Given the description of an element on the screen output the (x, y) to click on. 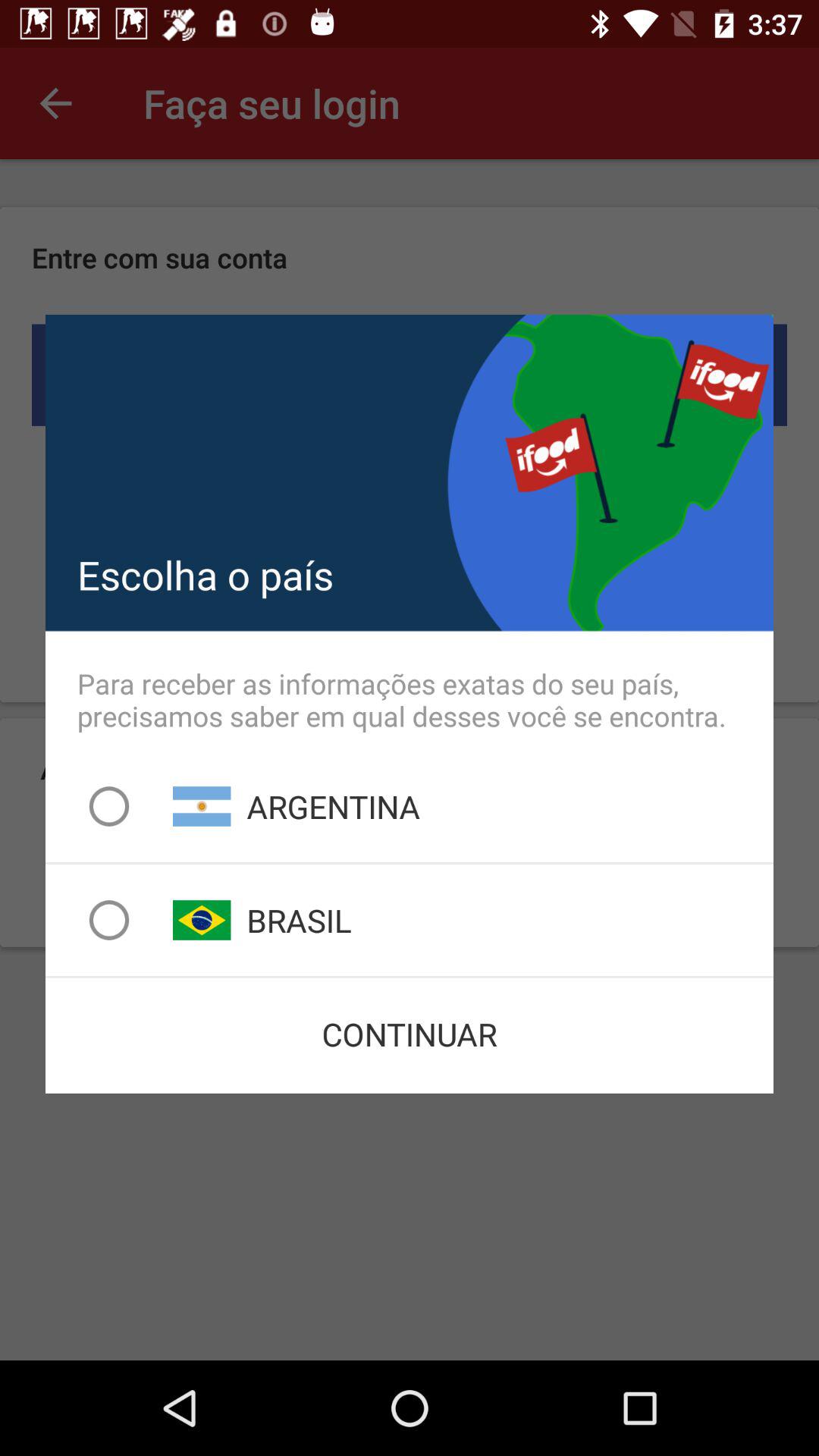
jump until the continuar icon (409, 1033)
